Given the description of an element on the screen output the (x, y) to click on. 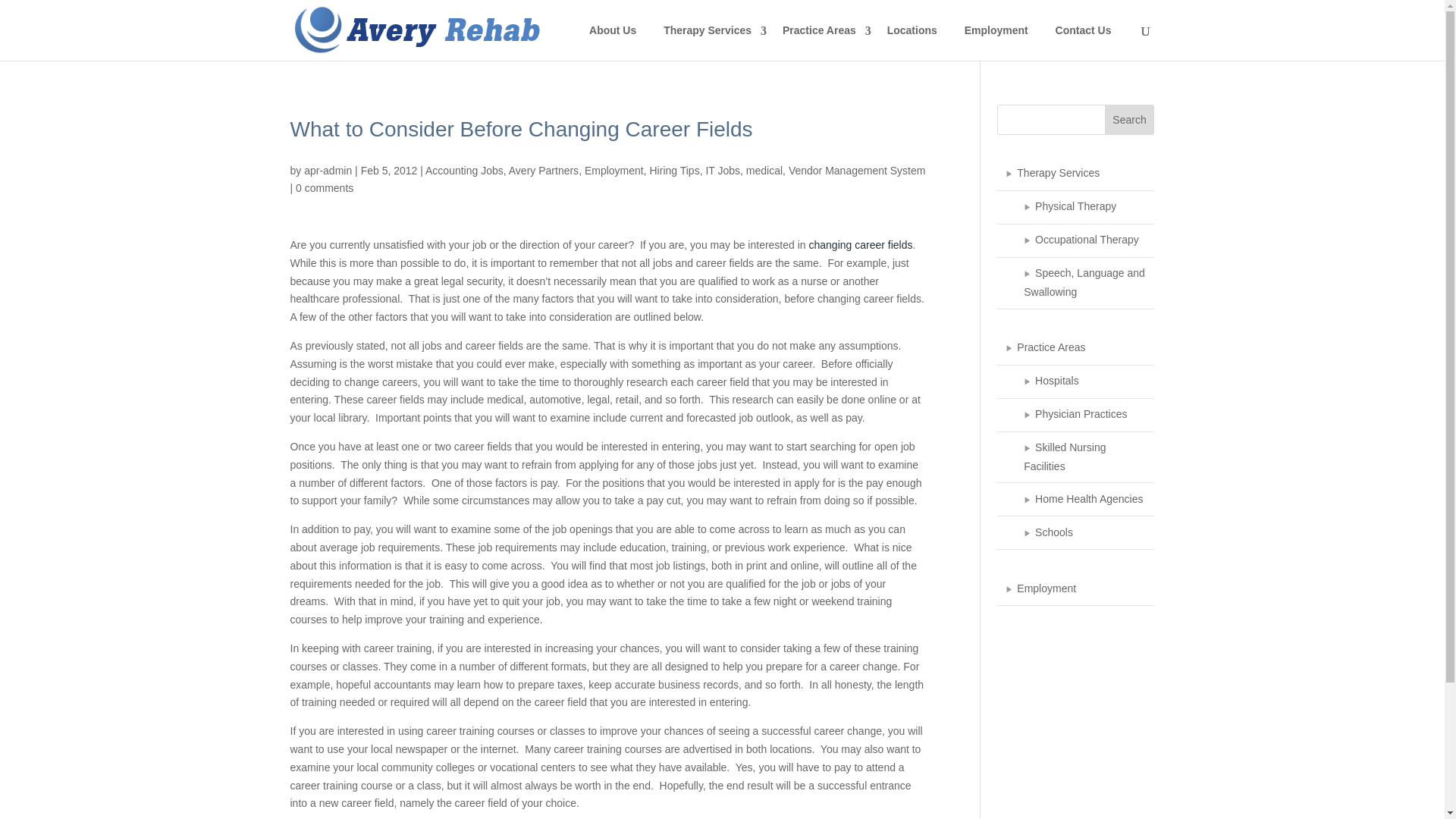
Accounting Jobs (464, 169)
Avery Partners (543, 169)
Therapy Services (1075, 174)
Occupational Therapy (1075, 240)
Physician Practices (1075, 415)
Schools (1075, 532)
Locations (912, 36)
changing career fields (860, 244)
Home Health Agencies (1075, 499)
Contact Us (1082, 36)
medical (764, 169)
Search (1129, 119)
Employment (996, 36)
Therapy Services (709, 36)
Hiring Tips (673, 169)
